Given the description of an element on the screen output the (x, y) to click on. 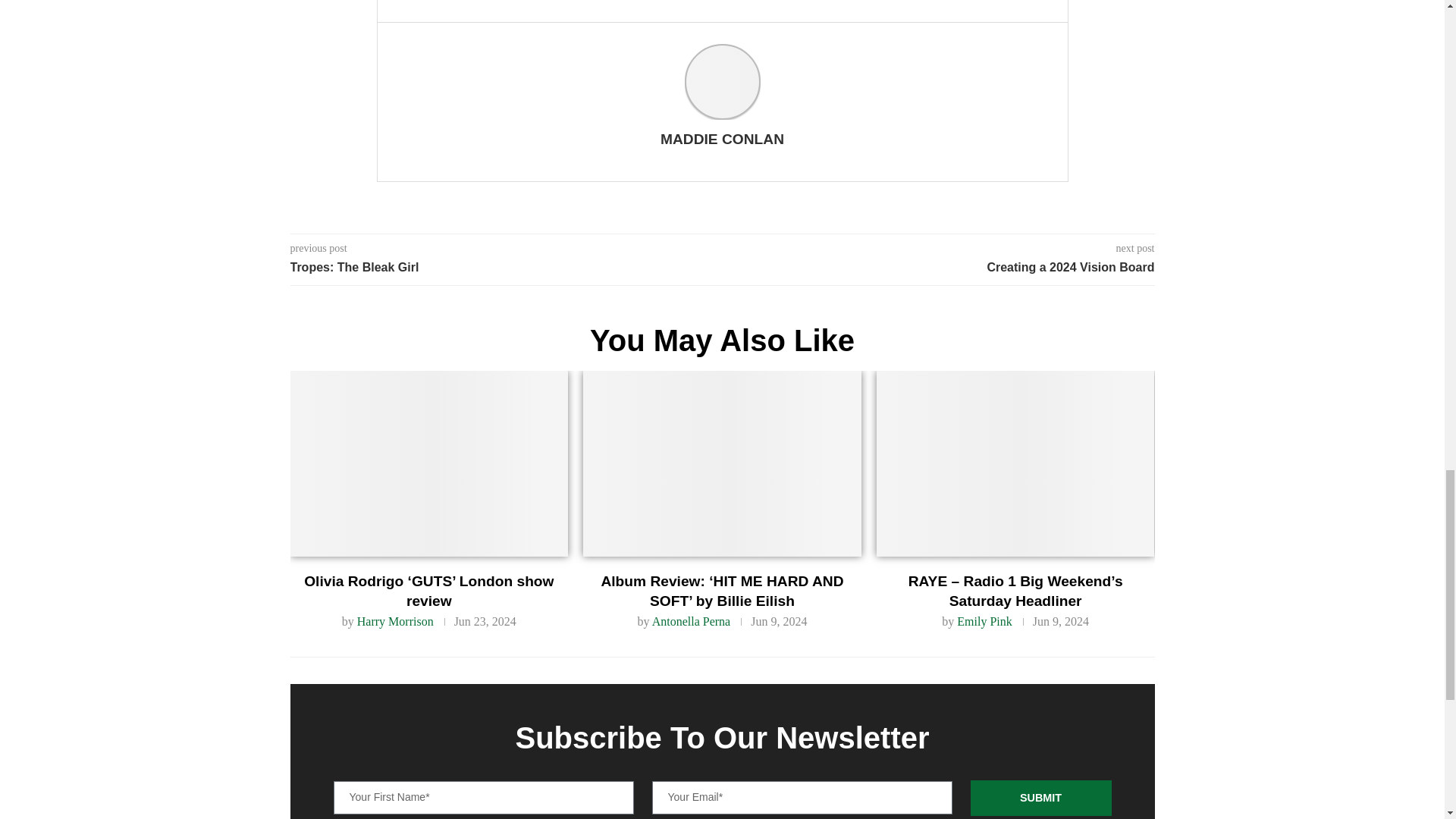
Antonella Perna (691, 621)
Emily Pink (983, 621)
Harry Morrison (394, 621)
Author Maddie Conlan (722, 139)
